Given the description of an element on the screen output the (x, y) to click on. 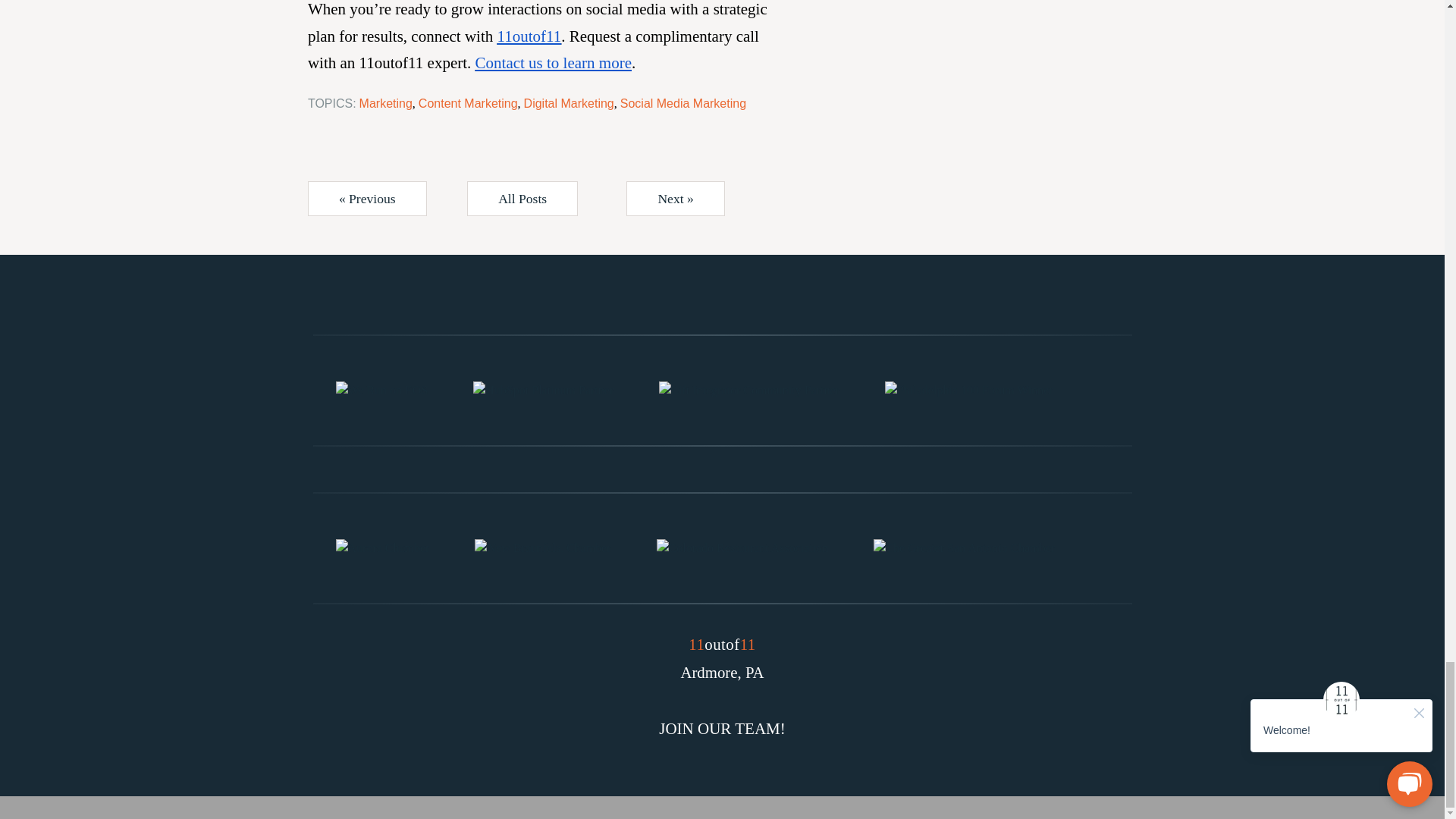
11outof11 (529, 36)
Marketing (385, 103)
JOIN OUR TEAM! (722, 728)
All Posts (522, 198)
Contact us to learn more (553, 63)
Digital Marketing (569, 103)
Social Media Marketing (682, 103)
Content Marketing (468, 103)
